Given the description of an element on the screen output the (x, y) to click on. 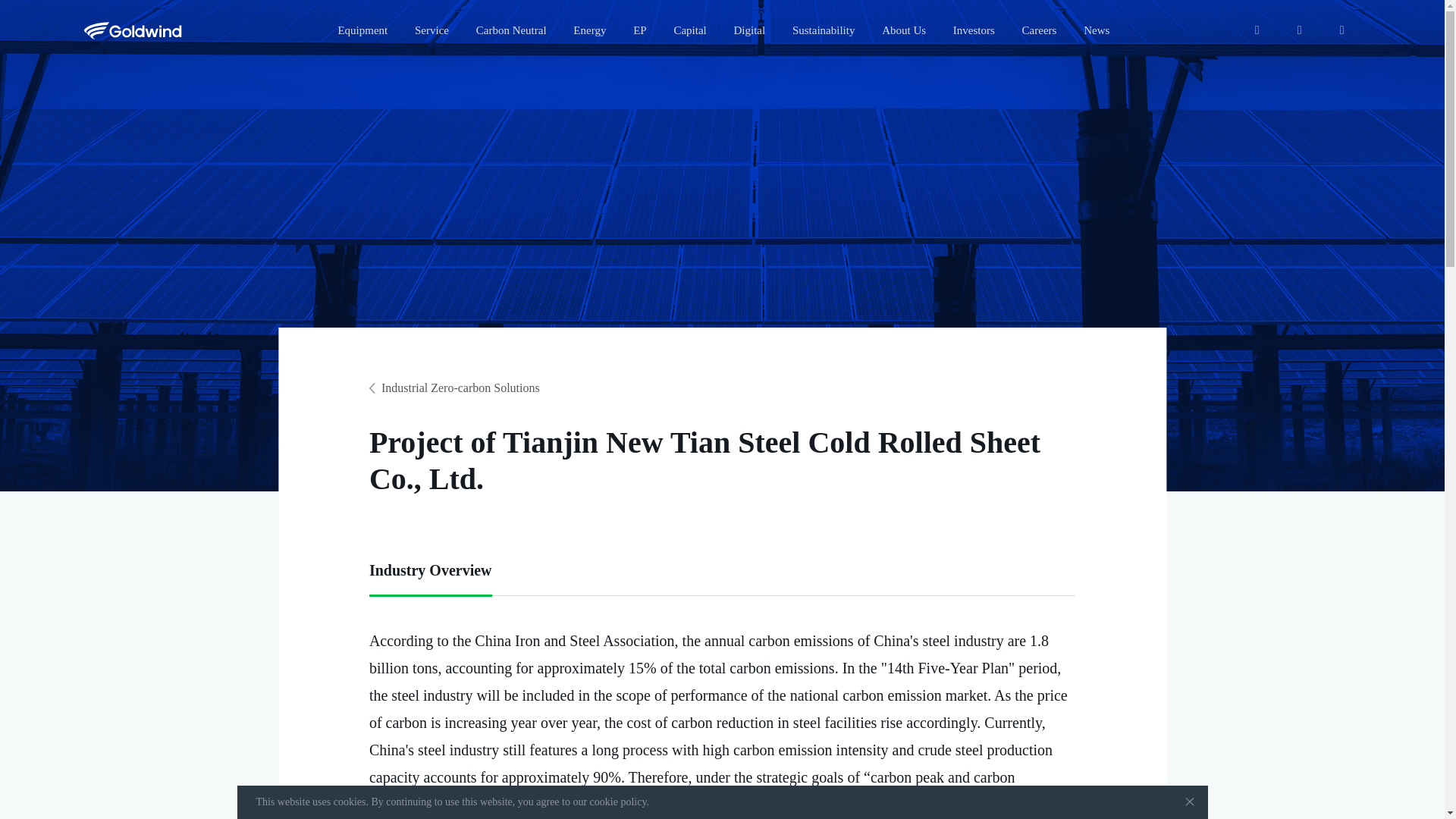
Sustainability (824, 30)
Carbon Neutral (511, 30)
Email (1299, 30)
